Given the description of an element on the screen output the (x, y) to click on. 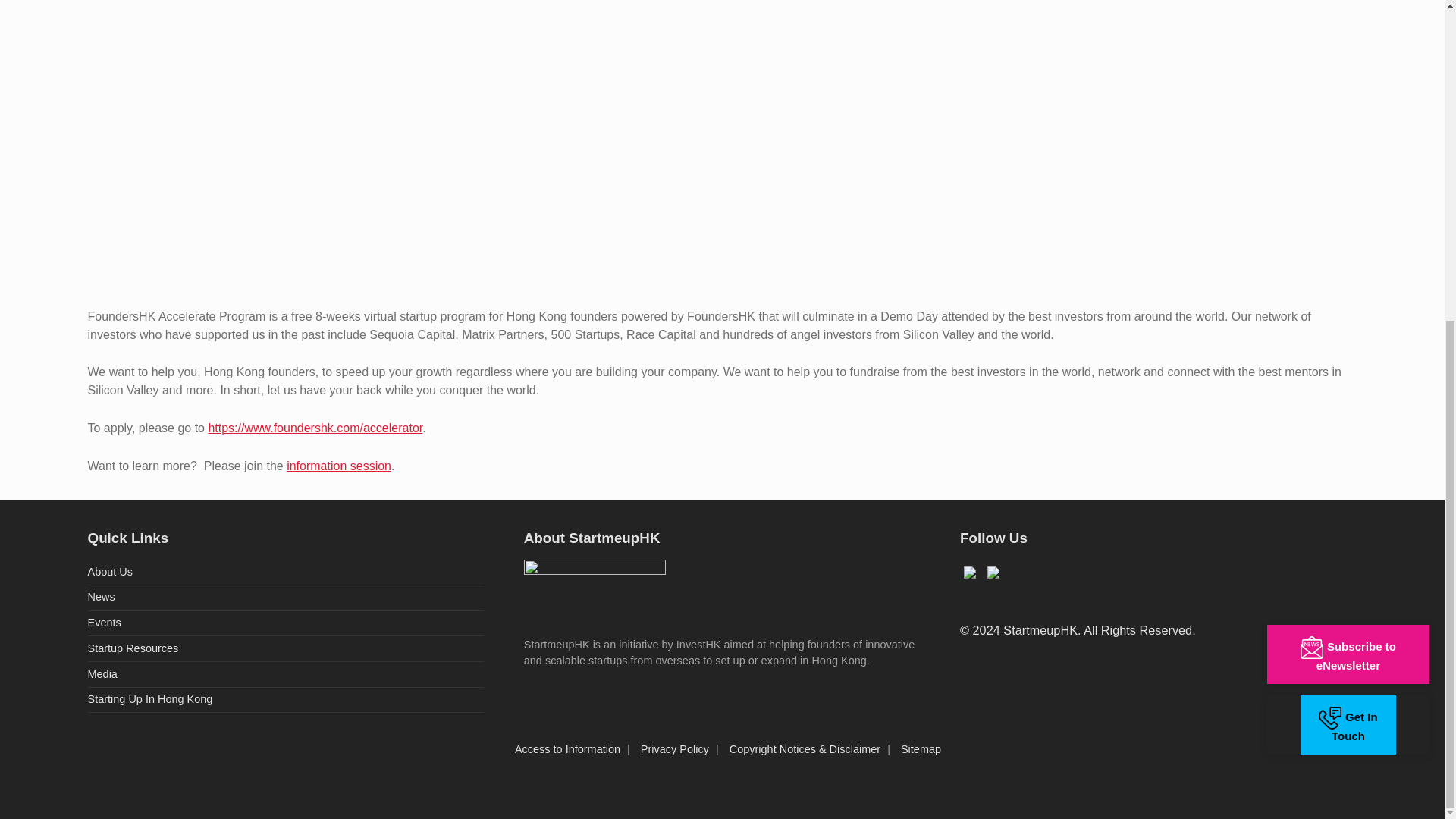
Get In Touch (1348, 205)
Subscribe to eNewsletter (1347, 134)
